Given the description of an element on the screen output the (x, y) to click on. 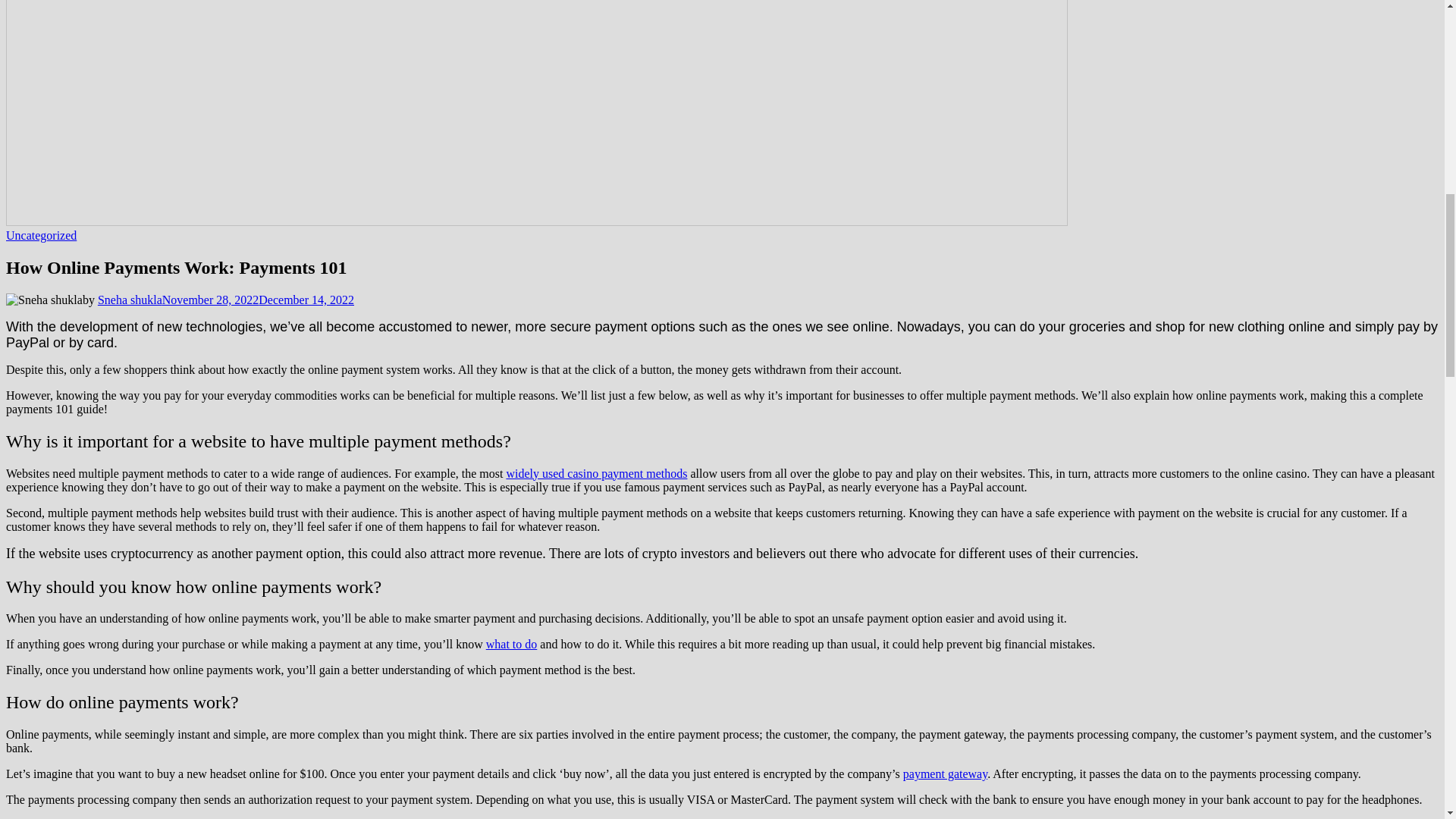
Uncategorized (41, 235)
November 28, 2022December 14, 2022 (257, 299)
what to do (511, 644)
Sneha shukla (129, 299)
payment gateway (944, 773)
widely used casino payment methods (596, 472)
